Given the description of an element on the screen output the (x, y) to click on. 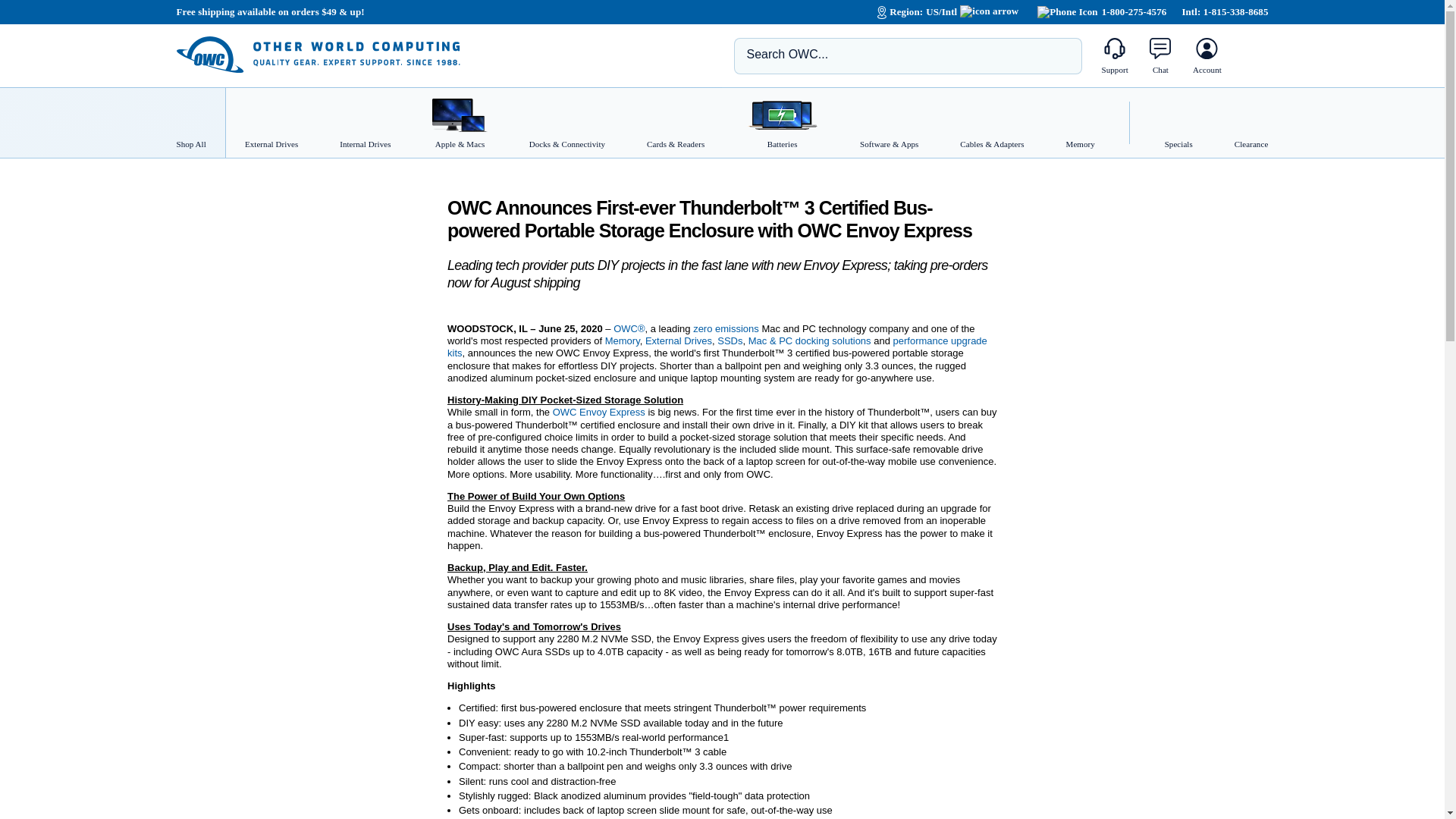
External Drives (265, 122)
Intl: 1-815-338-8685 (1224, 11)
1-800-275-4576 (1101, 11)
Search (1059, 55)
Internal Drives (364, 122)
